Given the description of an element on the screen output the (x, y) to click on. 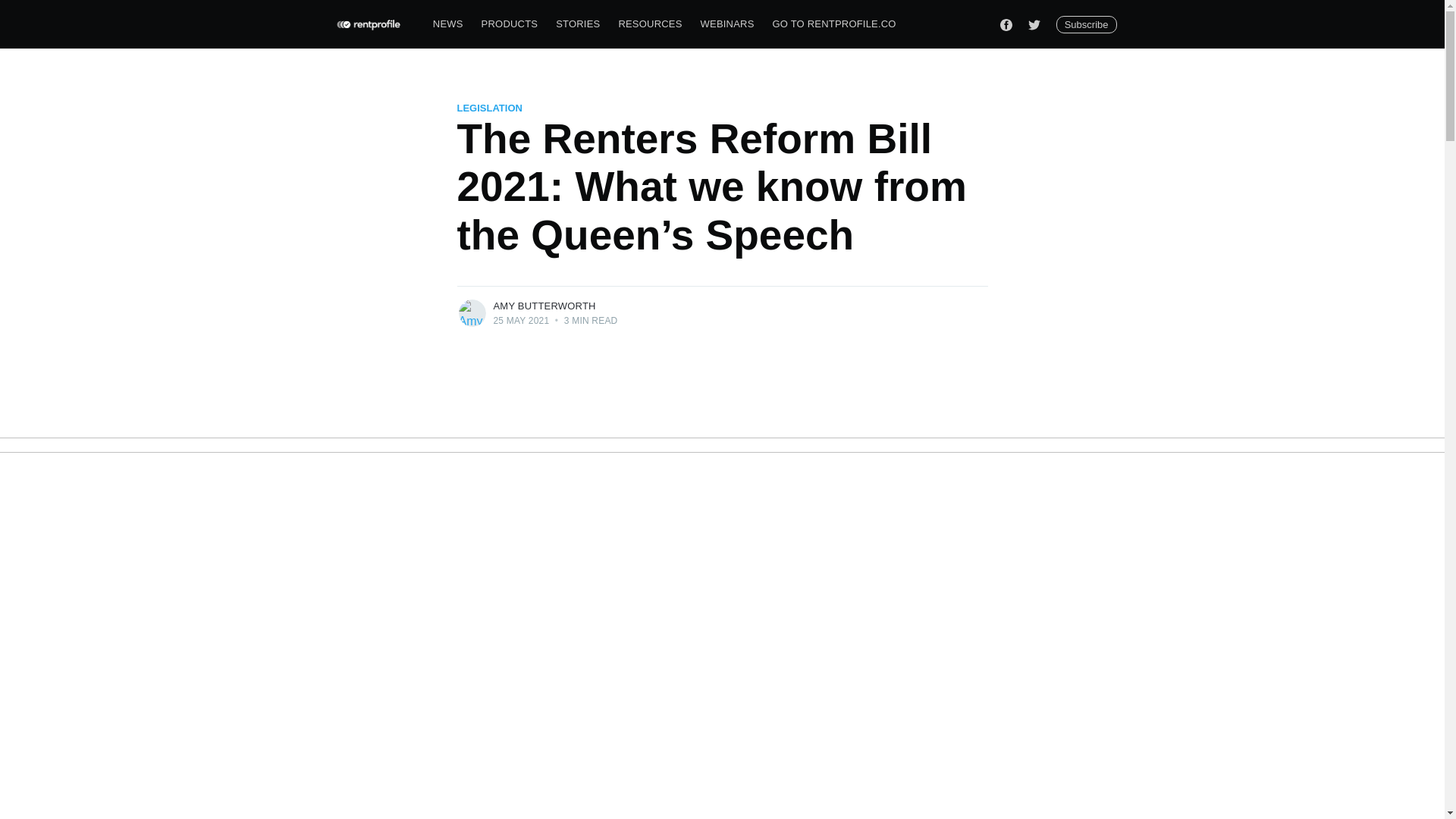
AMY BUTTERWORTH (544, 306)
RESOURCES (649, 24)
NEWS (447, 24)
LEGISLATION (489, 108)
STORIES (577, 24)
WEBINARS (726, 24)
PRODUCTS (509, 24)
GO TO RENTPROFILE.CO (833, 24)
Subscribe (1086, 23)
